Given the description of an element on the screen output the (x, y) to click on. 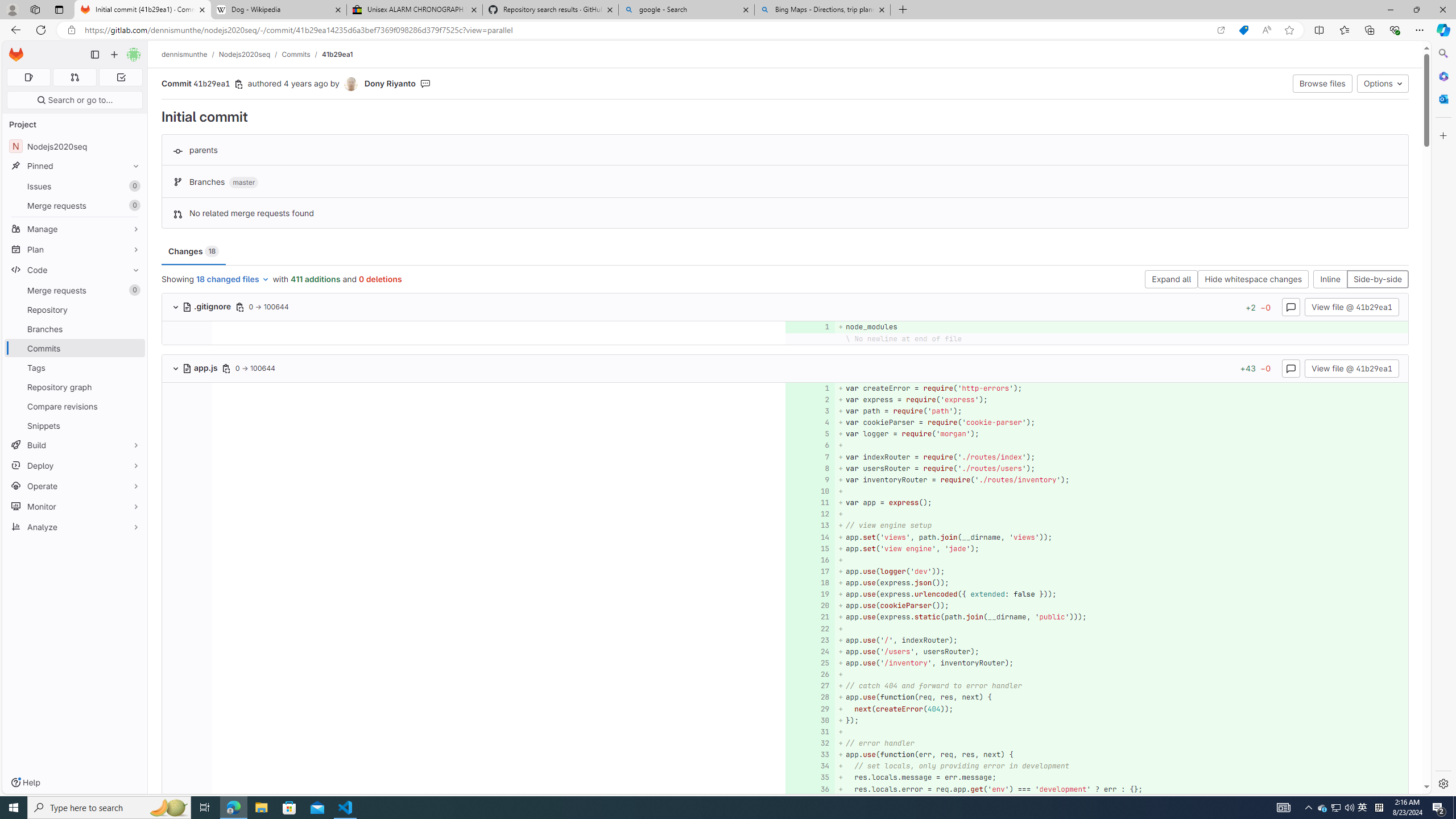
+ next(createError(404));  (1120, 708)
+ app.use(express.json());  (1120, 582)
36 (808, 788)
Nodejs2020seq/ (250, 53)
Add a comment to this line 7 (809, 456)
30 (808, 720)
Options (1382, 83)
Branches (74, 328)
+ app.use(express.static(path.join(__dirname, 'public')));  (1120, 617)
41b29ea1 (337, 53)
11 (808, 503)
+ // error handler  (1120, 743)
Repository (74, 309)
Dony Riyanto's avatar (351, 83)
Pin Repository graph (132, 386)
